Given the description of an element on the screen output the (x, y) to click on. 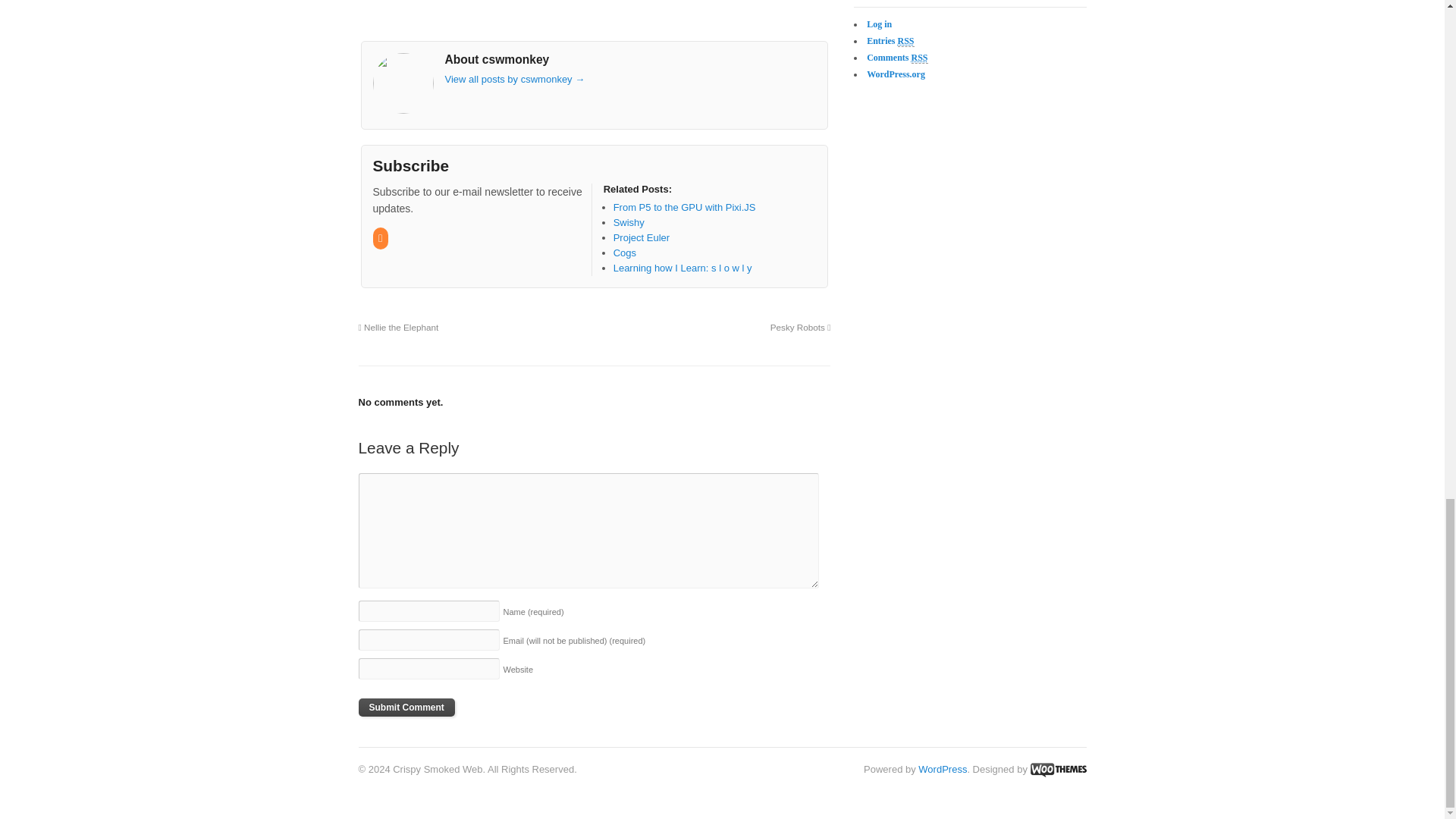
Nellie the Elephant (398, 327)
Submit Comment (406, 707)
Learning how I Learn:    s     l      o      w      l      y (682, 267)
Really Simple Syndication (919, 57)
Project Euler (640, 237)
Pesky Robots (800, 327)
From P5 to the GPU with Pixi.JS (683, 206)
Project Euler (640, 237)
Learning how I Learn: s l o w l y (682, 267)
Swishy (628, 222)
Submit Comment (406, 707)
WooThemes (1057, 768)
Cogs (624, 252)
RSS (381, 238)
